Given the description of an element on the screen output the (x, y) to click on. 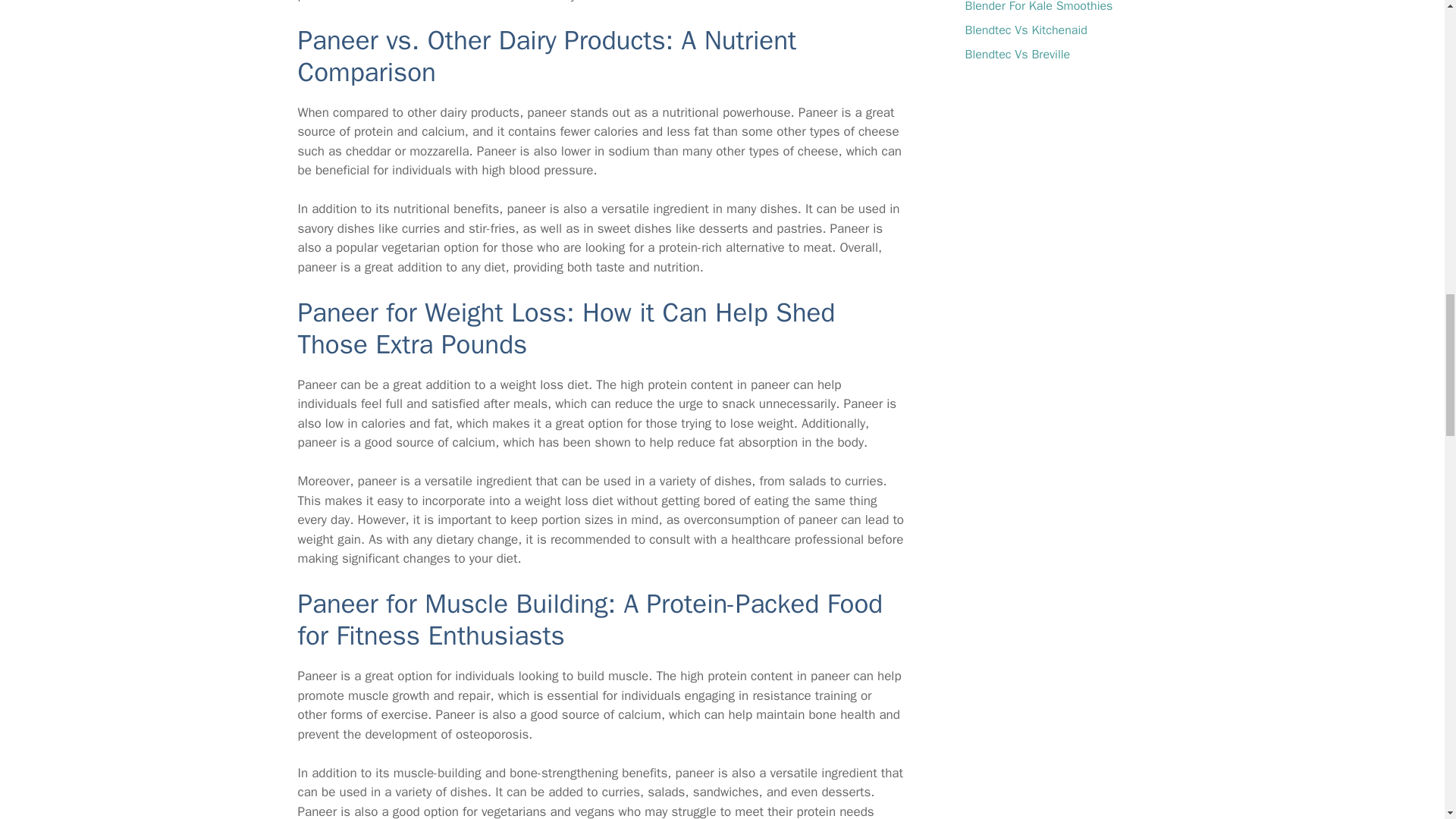
Blendtec Vs Breville (1016, 54)
Blendtec Vs Kitchenaid (1024, 29)
Blender For Kale Smoothies (1037, 6)
